Given the description of an element on the screen output the (x, y) to click on. 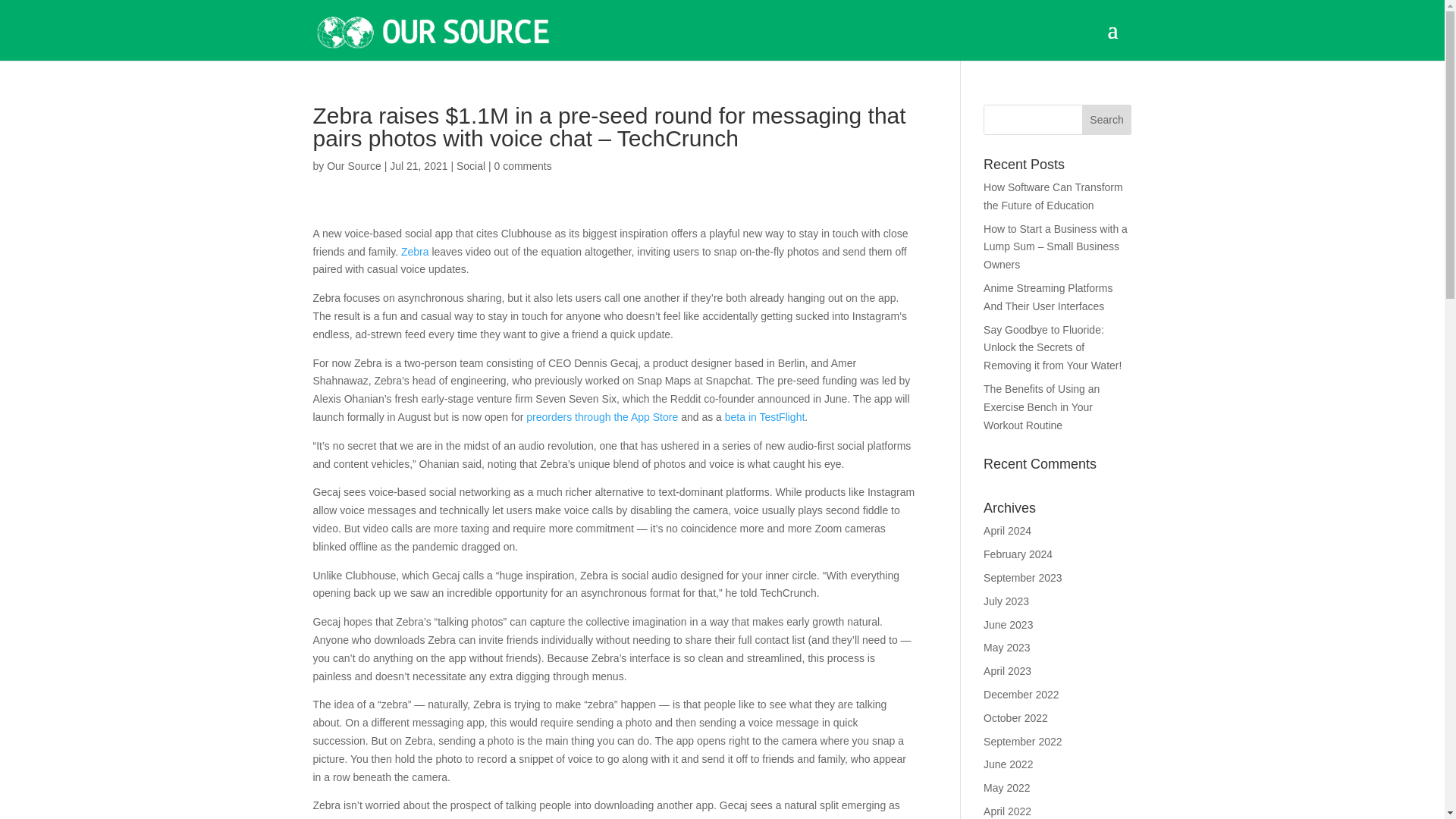
June 2023 (1008, 624)
September 2023 (1023, 577)
July 2023 (1006, 601)
February 2024 (1018, 553)
December 2022 (1021, 694)
beta in TestFlight (765, 417)
April 2023 (1007, 671)
Zebra (415, 251)
How Software Can Transform the Future of Education (1053, 195)
preorders through the App Store (601, 417)
Search (1106, 119)
Our Source (353, 165)
May 2023 (1006, 647)
